Given the description of an element on the screen output the (x, y) to click on. 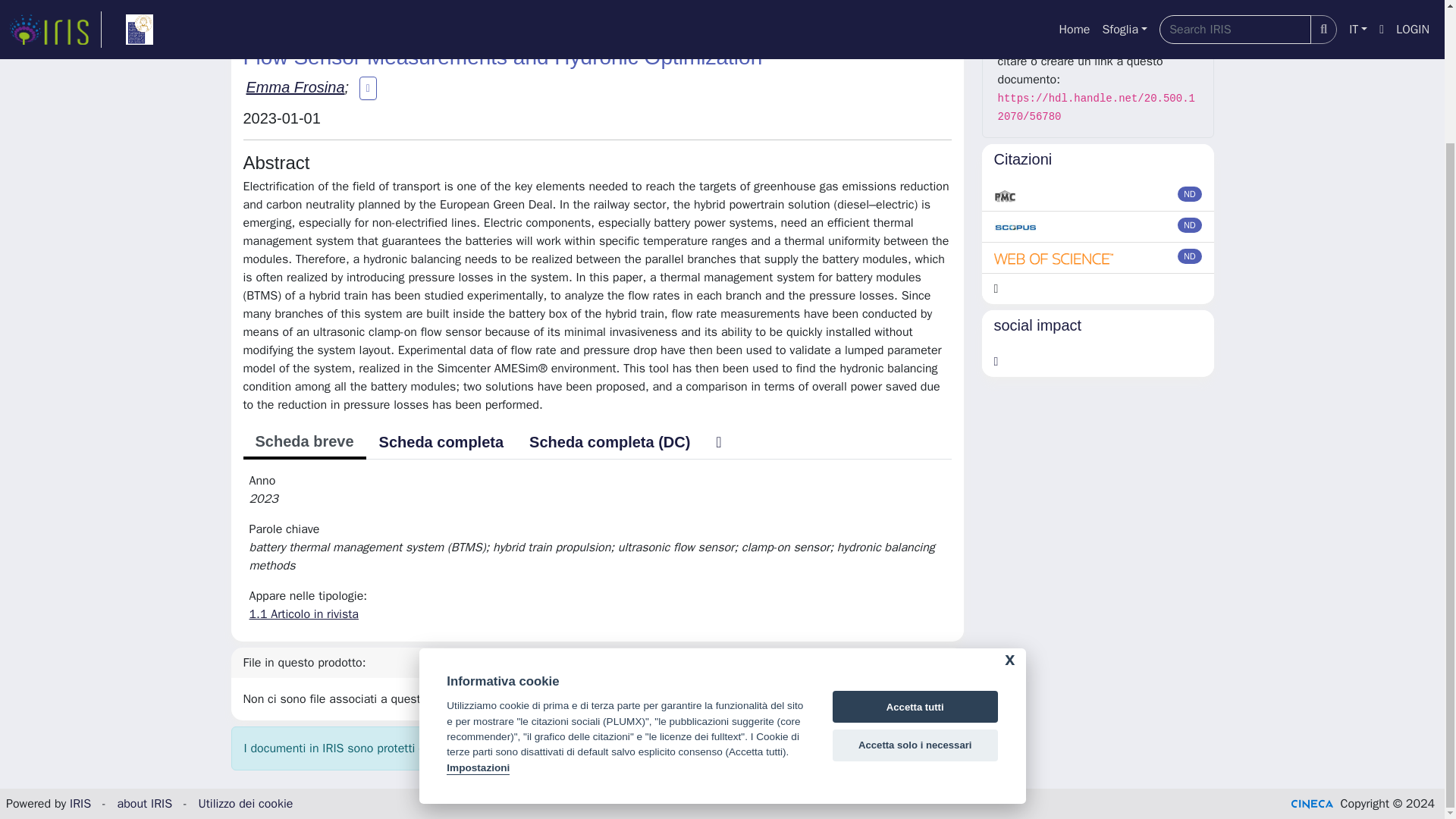
Scheda completa (441, 441)
about IRIS (145, 803)
 Informazioni (1097, 11)
Scheda breve (304, 442)
IRIS (79, 803)
1.1 Articolo in rivista (303, 613)
Emma Frosina (294, 86)
